Given the description of an element on the screen output the (x, y) to click on. 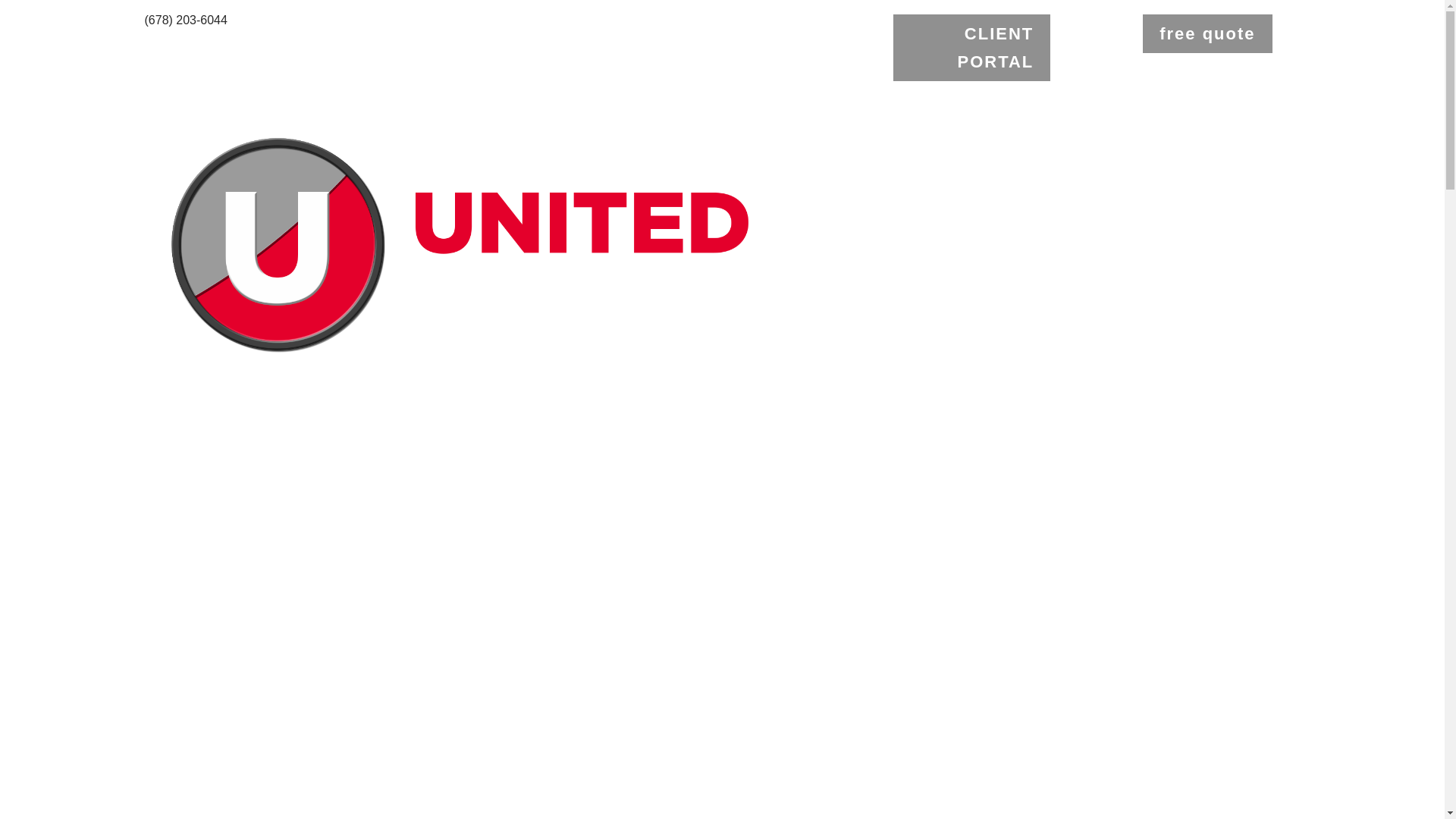
CLIENT PORTAL (971, 47)
free quote (1206, 33)
Online Payment (42, 6)
